Given the description of an element on the screen output the (x, y) to click on. 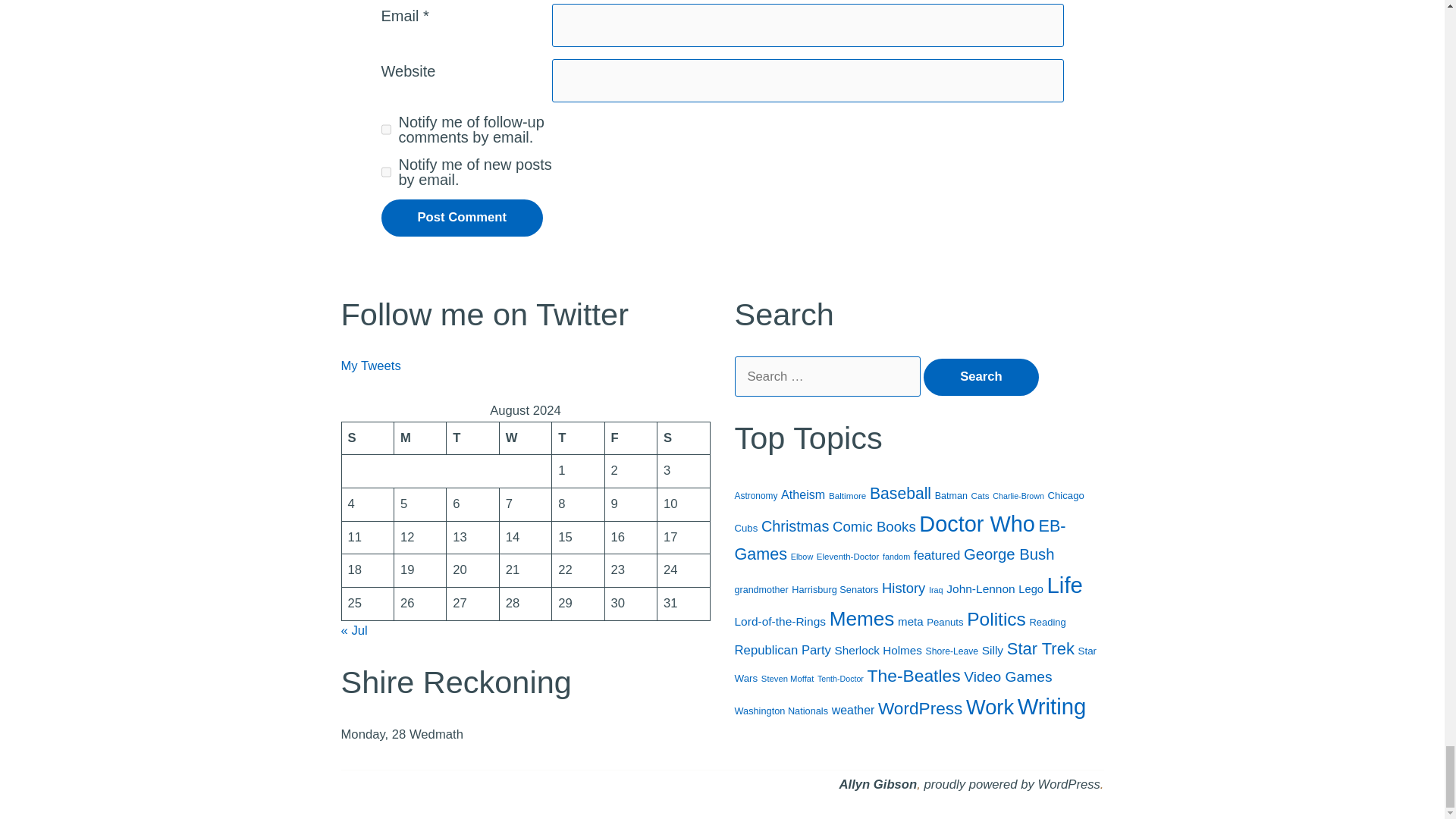
Post Comment (461, 217)
Search (981, 376)
Search (981, 376)
